Given the description of an element on the screen output the (x, y) to click on. 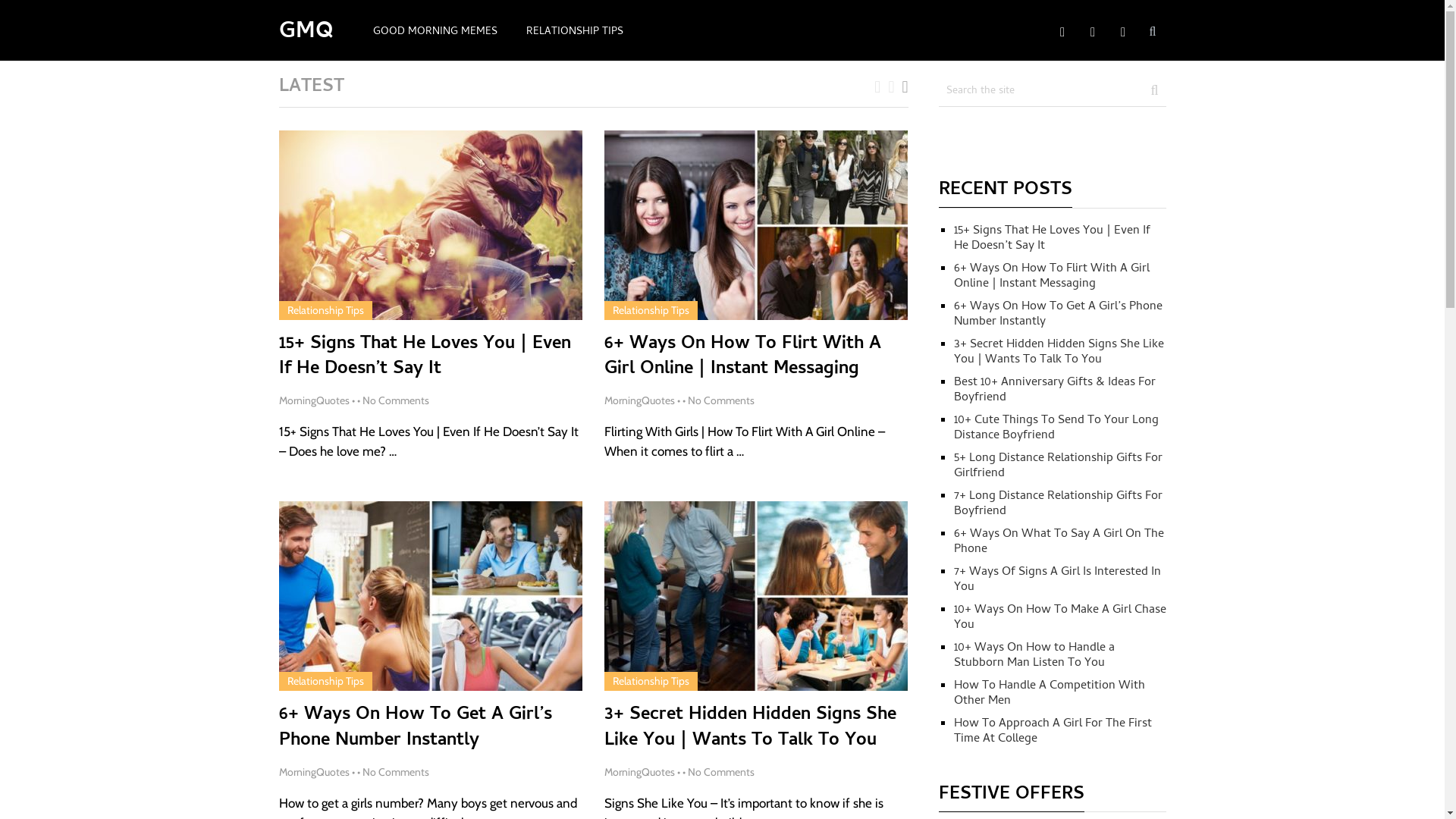
10+ Cute Things To Send To Your Long Distance Boyfriend Element type: text (1055, 428)
Relationship Tips Element type: text (650, 680)
10+ Ways On How To Make A Girl Chase You Element type: text (1059, 617)
How To Handle A Competition With Other Men Element type: text (1049, 693)
6+ Ways On What To Say A Girl On The Phone Element type: text (1058, 541)
RELATIONSHIP TIPS Element type: text (574, 32)
No Comments Element type: text (395, 400)
GMQ Element type: text (305, 32)
No Comments Element type: text (395, 771)
MorningQuotes Element type: text (639, 400)
Relationship Tips Element type: text (650, 309)
GOOD MORNING MEMES Element type: text (434, 32)
MorningQuotes Element type: text (314, 400)
No Comments Element type: text (720, 771)
7+ Long Distance Relationship Gifts For Boyfriend Element type: text (1057, 503)
Relationship Tips Element type: text (324, 680)
MorningQuotes Element type: text (314, 771)
MorningQuotes Element type: text (639, 771)
5+ Long Distance Relationship Gifts For Girlfriend Element type: text (1057, 465)
How To Approach A Girl For The First Time At College Element type: text (1052, 731)
10+ Ways On How to Handle a Stubborn Man Listen To You Element type: text (1033, 655)
No Comments Element type: text (720, 400)
Relationship Tips Element type: text (324, 309)
7+ Ways Of Signs A Girl Is Interested In You Element type: text (1057, 579)
Best 10+ Anniversary Gifts & Ideas For Boyfriend Element type: text (1054, 390)
